Given the description of an element on the screen output the (x, y) to click on. 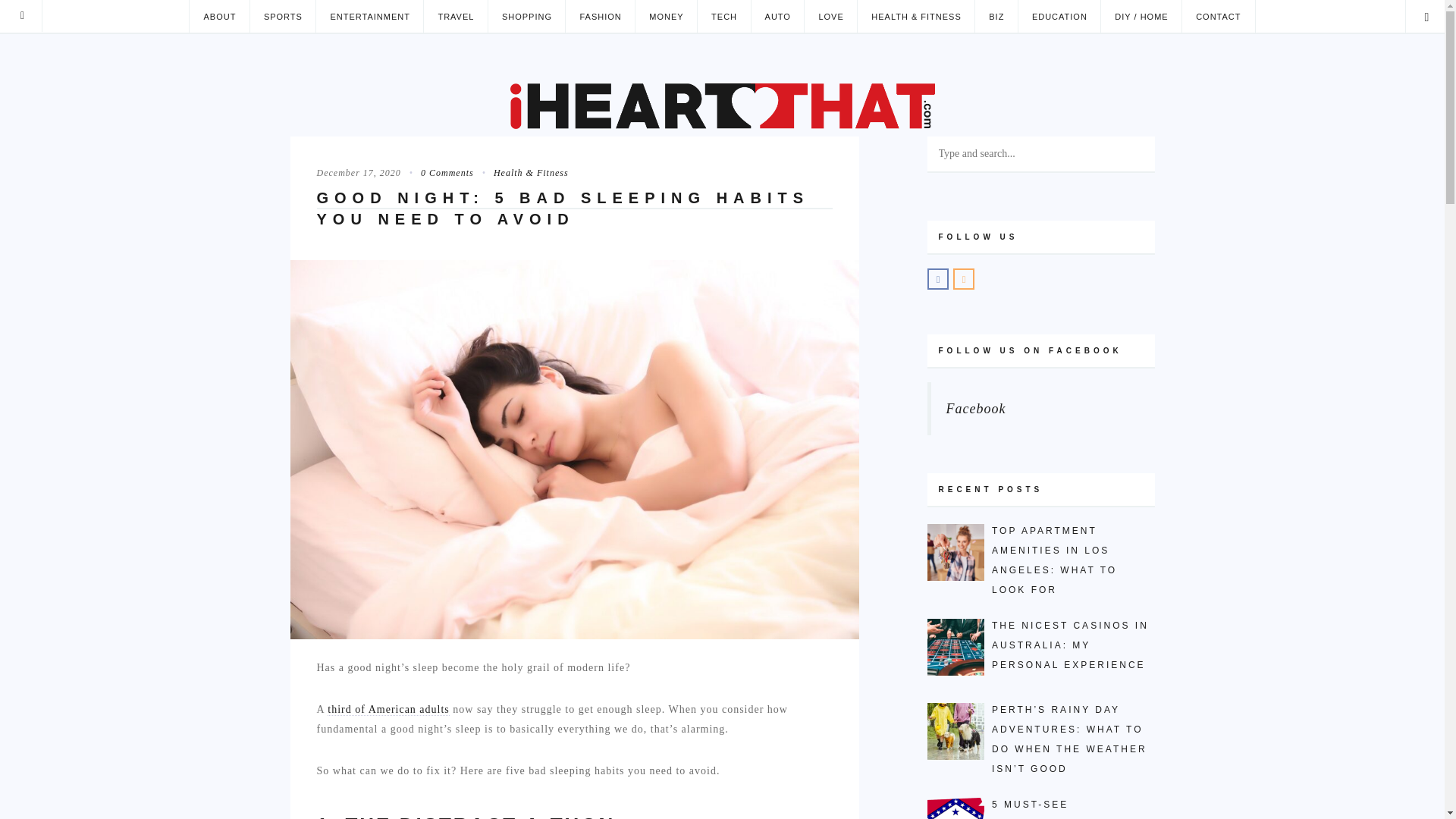
CONTACT (1217, 16)
MONEY (665, 16)
BIZ (995, 16)
ABOUT (218, 16)
third of American adults (387, 709)
TECH (724, 16)
SPORTS (281, 16)
AUTO (778, 16)
SHOPPING (526, 16)
Facebook (976, 408)
EDUCATION (1058, 16)
TRAVEL (455, 16)
ENTERTAINMENT (369, 16)
LOVE (830, 16)
0 Comments (439, 172)
